Given the description of an element on the screen output the (x, y) to click on. 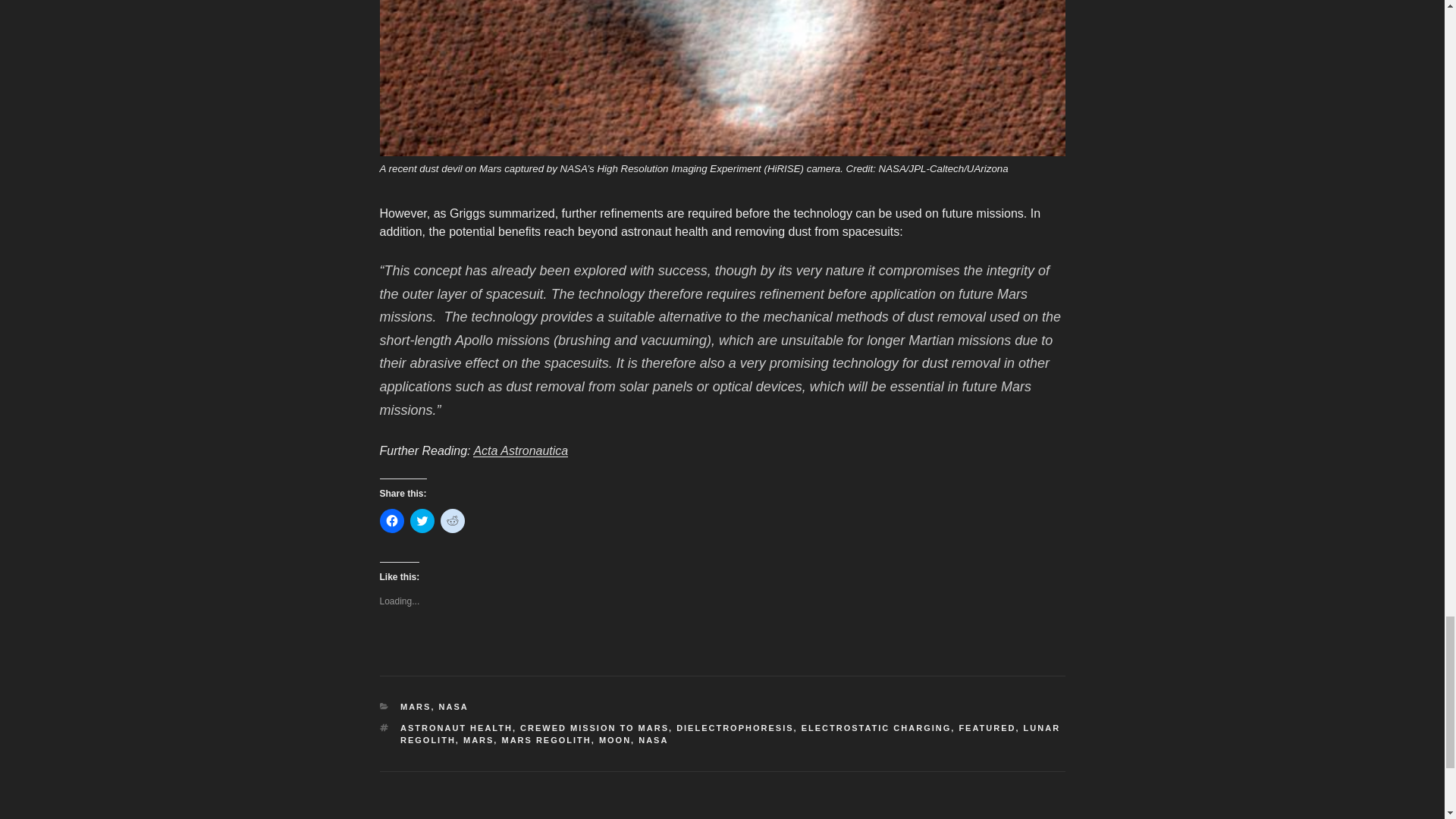
NASA (453, 706)
Click to share on Reddit (451, 520)
MARS (478, 739)
Acta Astronautica (520, 450)
CREWED MISSION TO MARS (593, 727)
DIELECTROPHORESIS (735, 727)
MARS REGOLITH (545, 739)
NASA (653, 739)
Click to share on Facebook (390, 520)
MOON (614, 739)
FEATURED (986, 727)
Click to share on Twitter (421, 520)
ASTRONAUT HEALTH (456, 727)
MARS (415, 706)
LUNAR REGOLITH (729, 734)
